Given the description of an element on the screen output the (x, y) to click on. 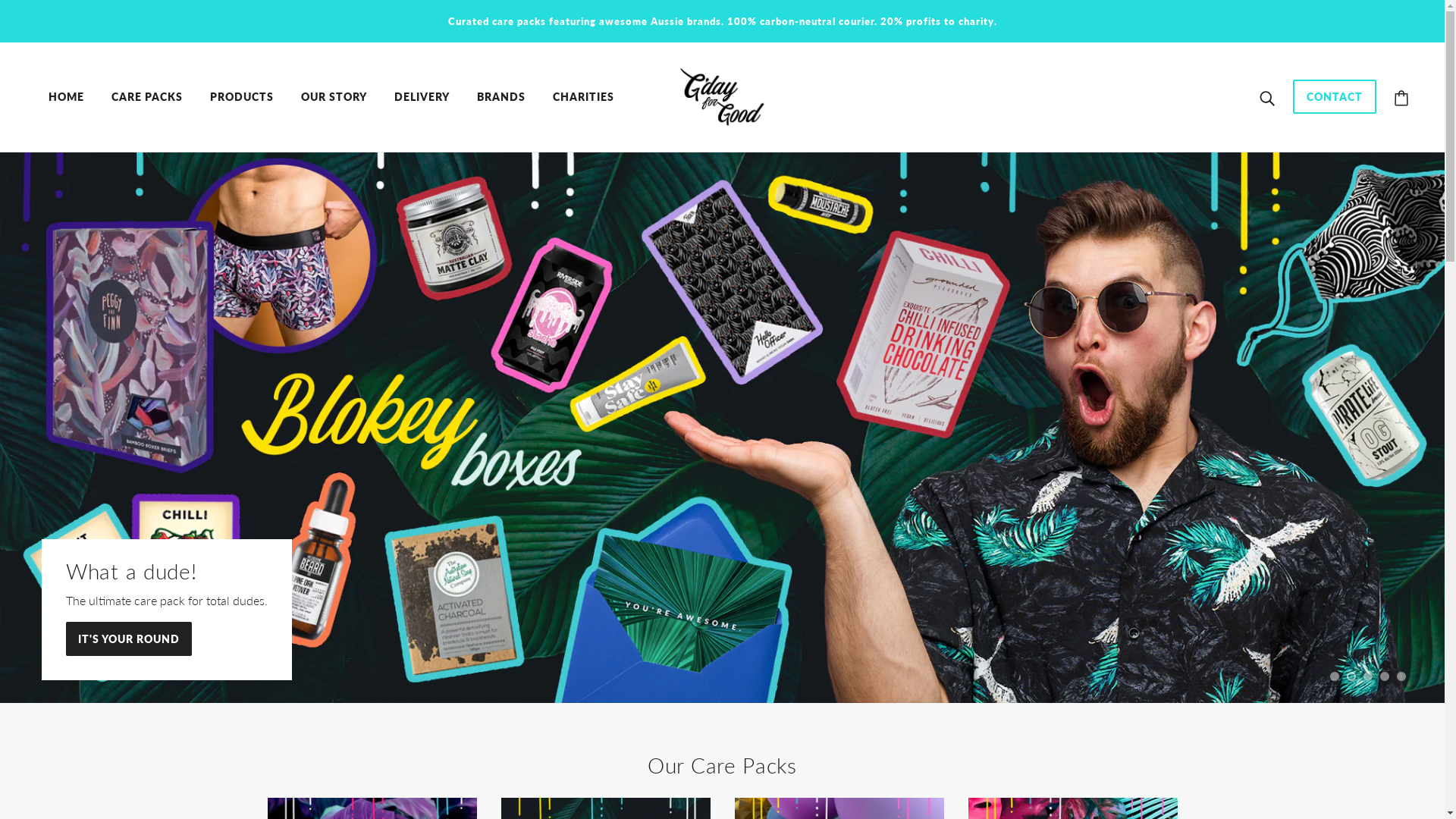
HOME Element type: text (66, 96)
IT'S YOUR ROUND Element type: text (128, 646)
OUR STORY Element type: text (333, 96)
CONTACT Element type: text (1334, 104)
CHARITIES Element type: text (583, 96)
CARE PACKS Element type: text (146, 96)
PRODUCTS Element type: text (241, 96)
BRANDS Element type: text (500, 96)
DELIVERY Element type: text (421, 96)
/ Element type: hover (722, 93)
